Given the description of an element on the screen output the (x, y) to click on. 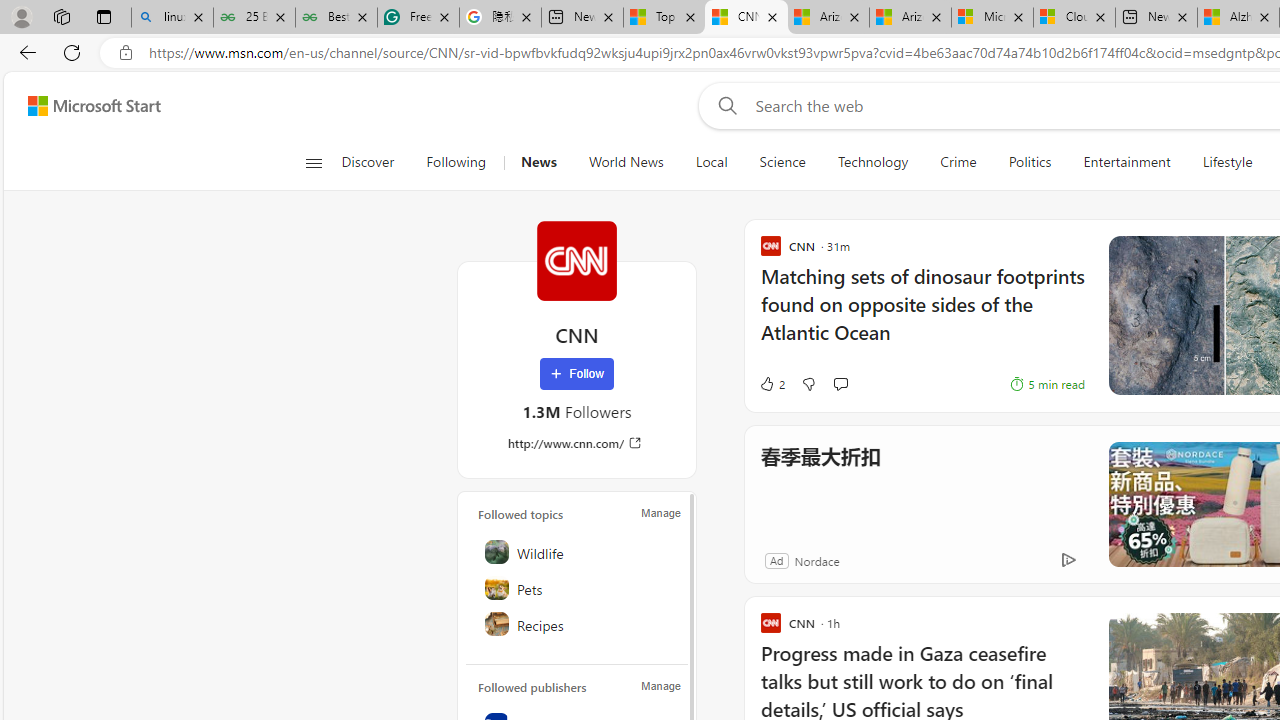
Pets (578, 587)
